Given the description of an element on the screen output the (x, y) to click on. 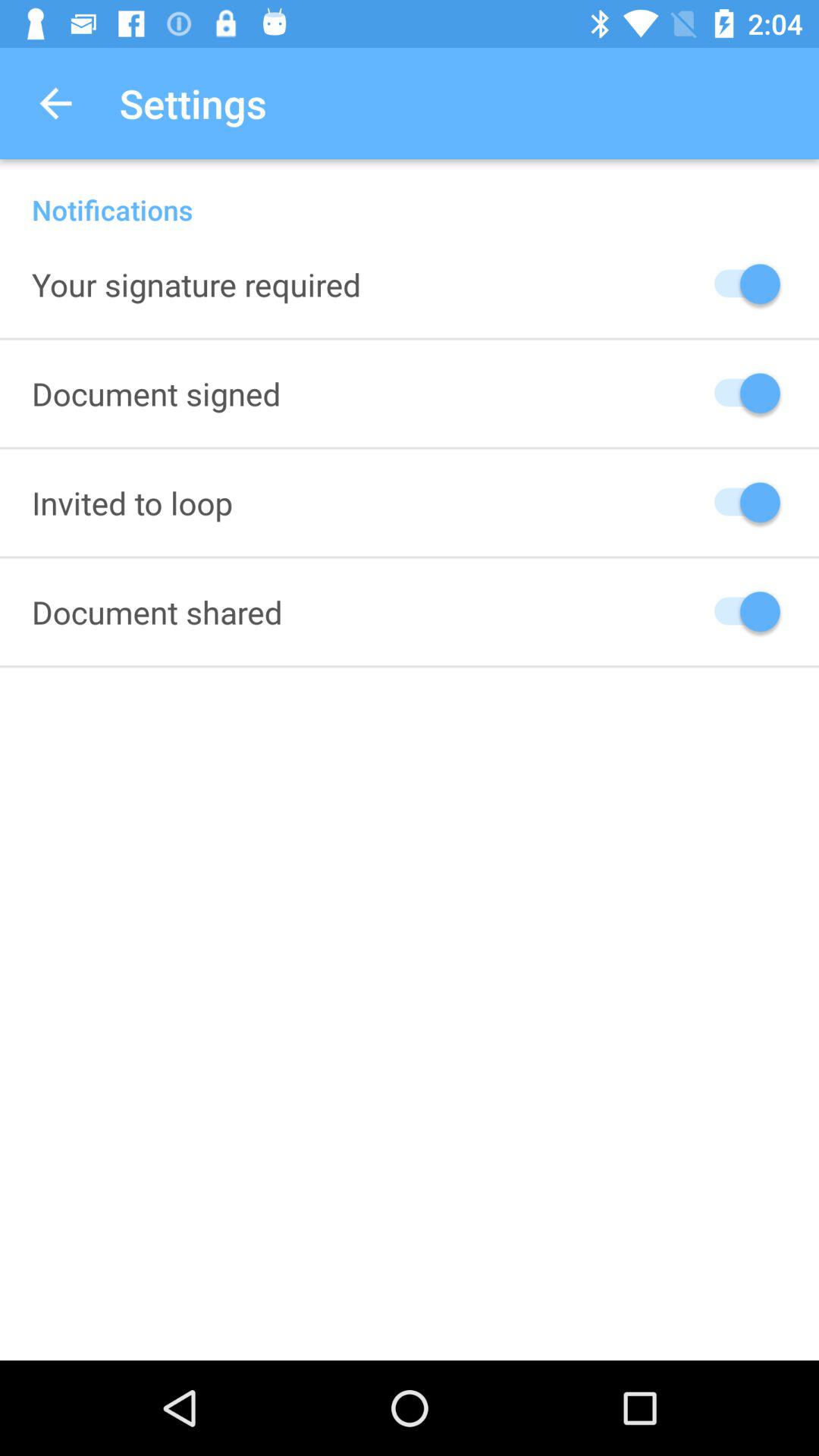
choose icon below notifications icon (196, 283)
